Given the description of an element on the screen output the (x, y) to click on. 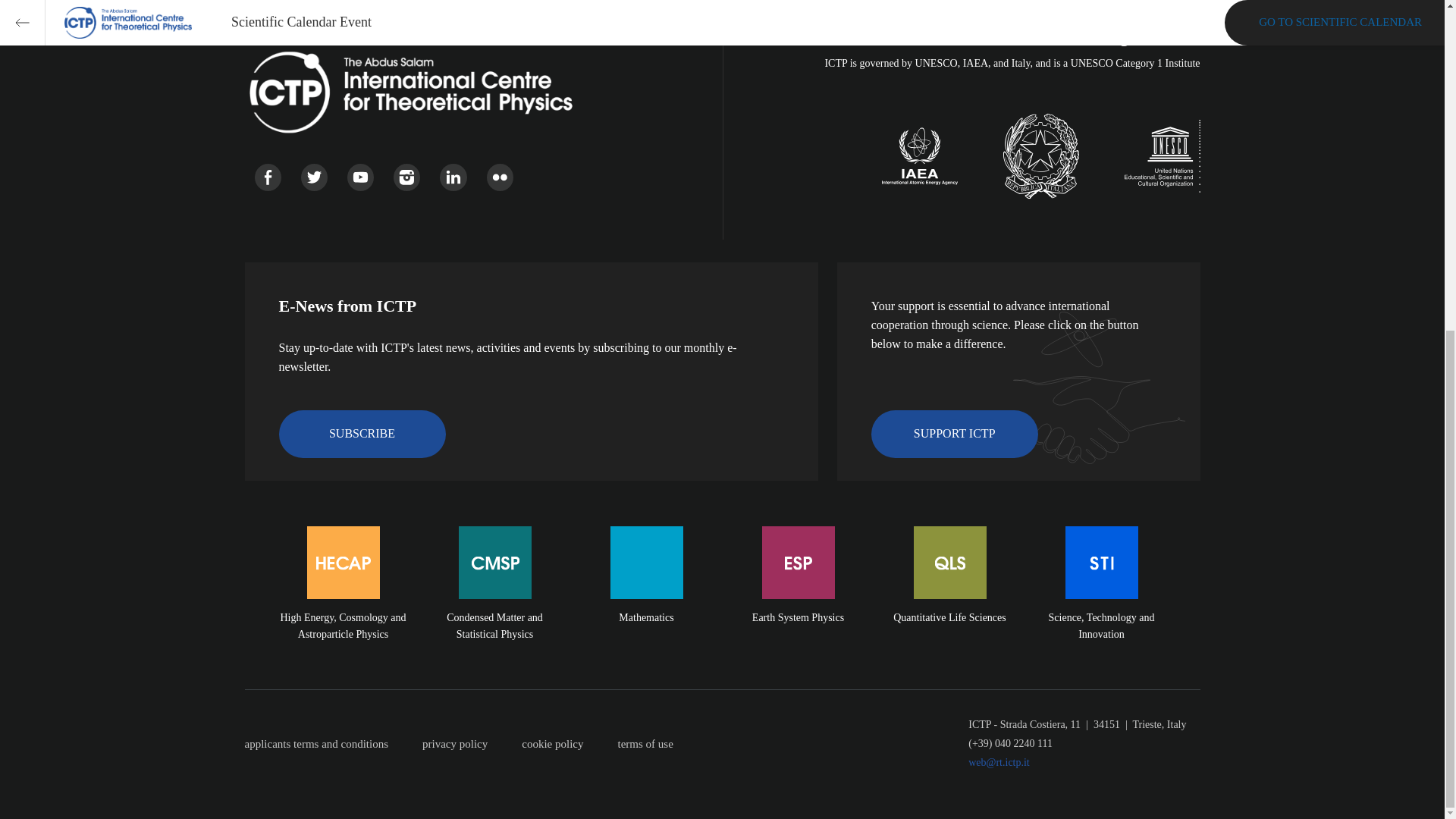
Mathematics (646, 601)
Facebook (267, 176)
Quantitative Life Sciences (949, 601)
Linkedin (452, 176)
Twitter (314, 176)
Condensed Matter and Statistical Physics (494, 601)
High Energy, Cosmology and Astroparticle Physics (343, 601)
SUBSCRIBE (362, 433)
Science, Technology and Innovation (1101, 601)
Instagram (406, 176)
Earth System Physics (798, 601)
privacy policy (471, 744)
applicants terms and conditions (333, 744)
Youtube (360, 176)
SUPPORT ICTP (954, 433)
